Given the description of an element on the screen output the (x, y) to click on. 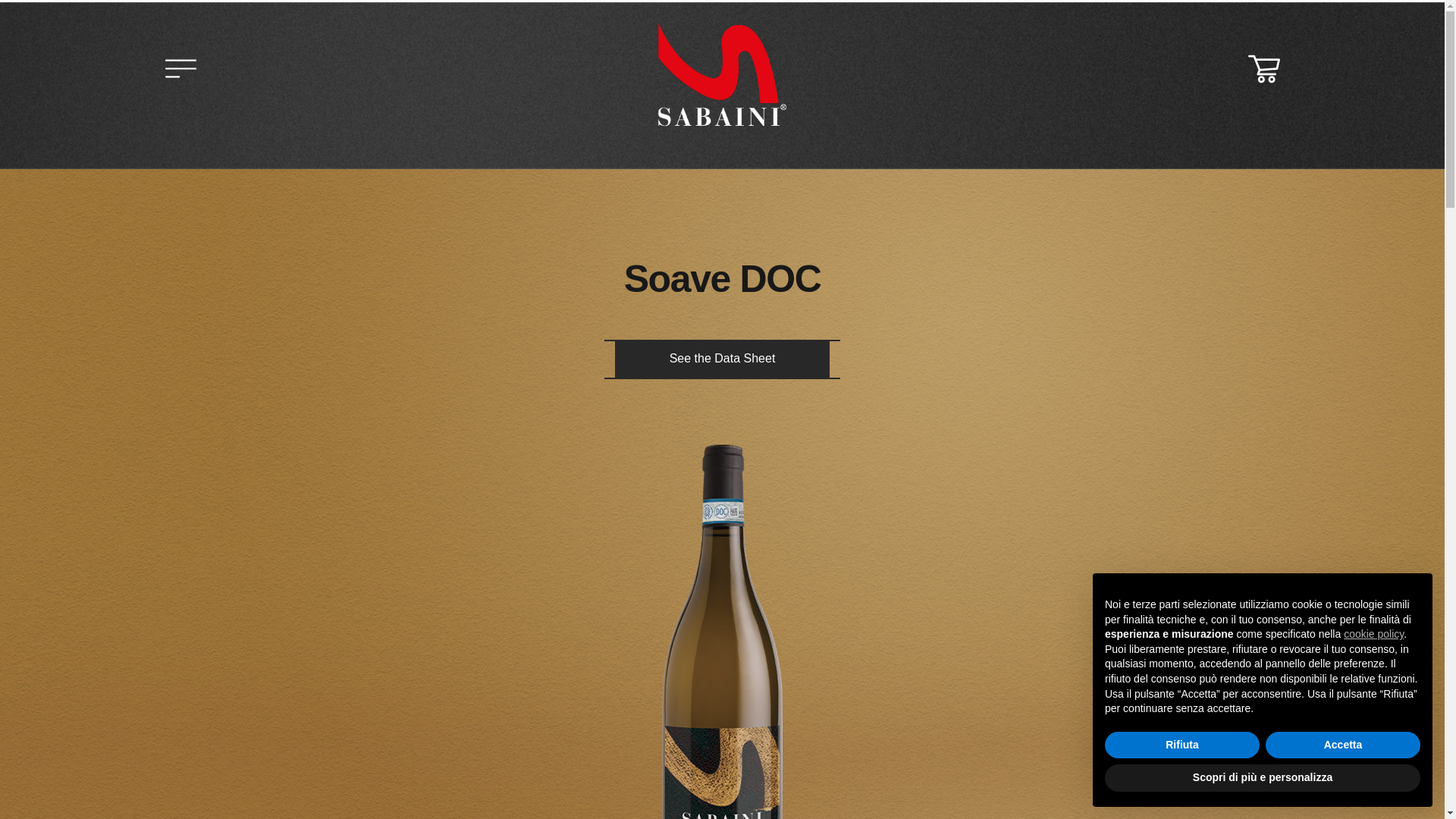
Accetta (1343, 745)
cookie policy (1373, 633)
Rifiuta (1182, 745)
See the Data Sheet (722, 358)
